Given the description of an element on the screen output the (x, y) to click on. 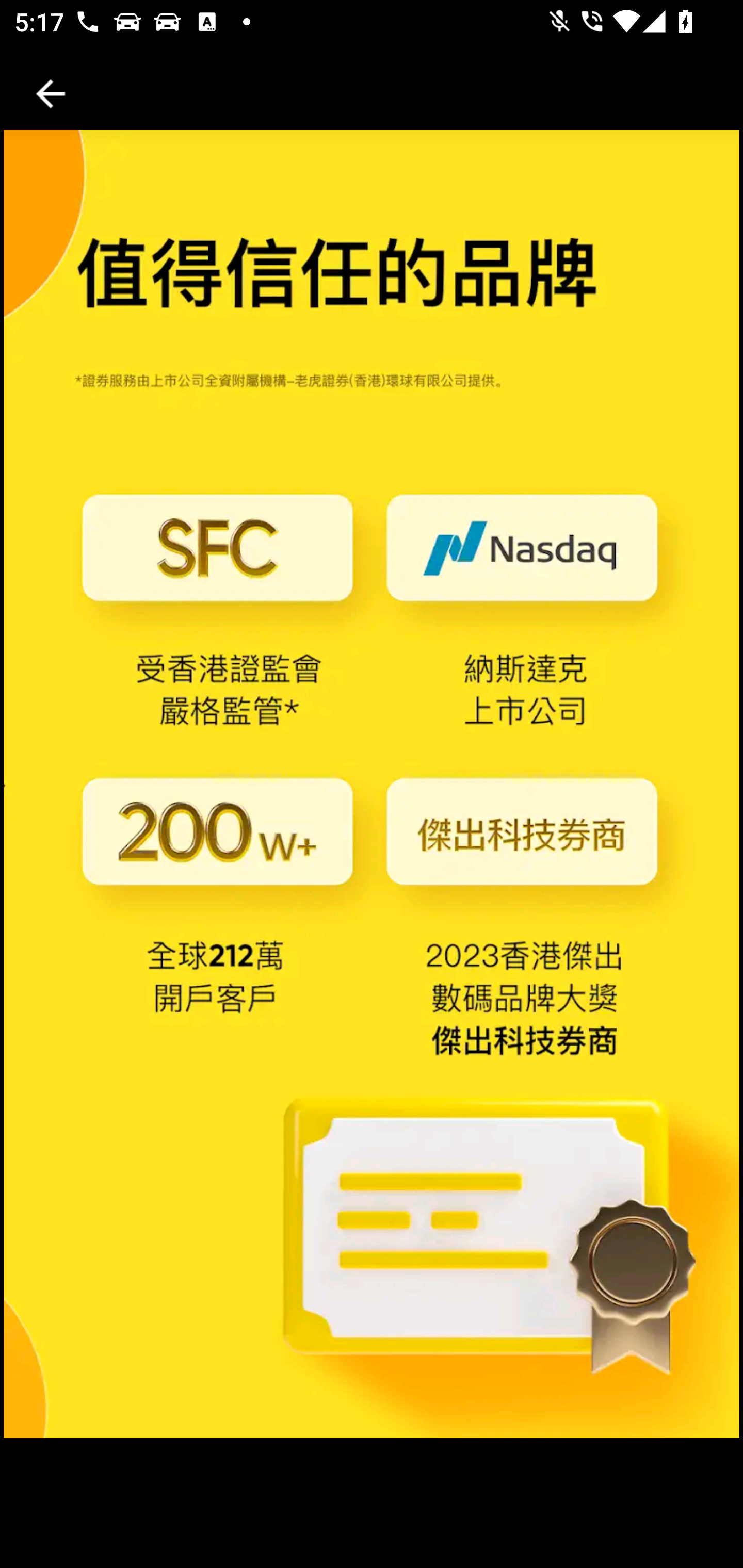
Back (50, 93)
